Given the description of an element on the screen output the (x, y) to click on. 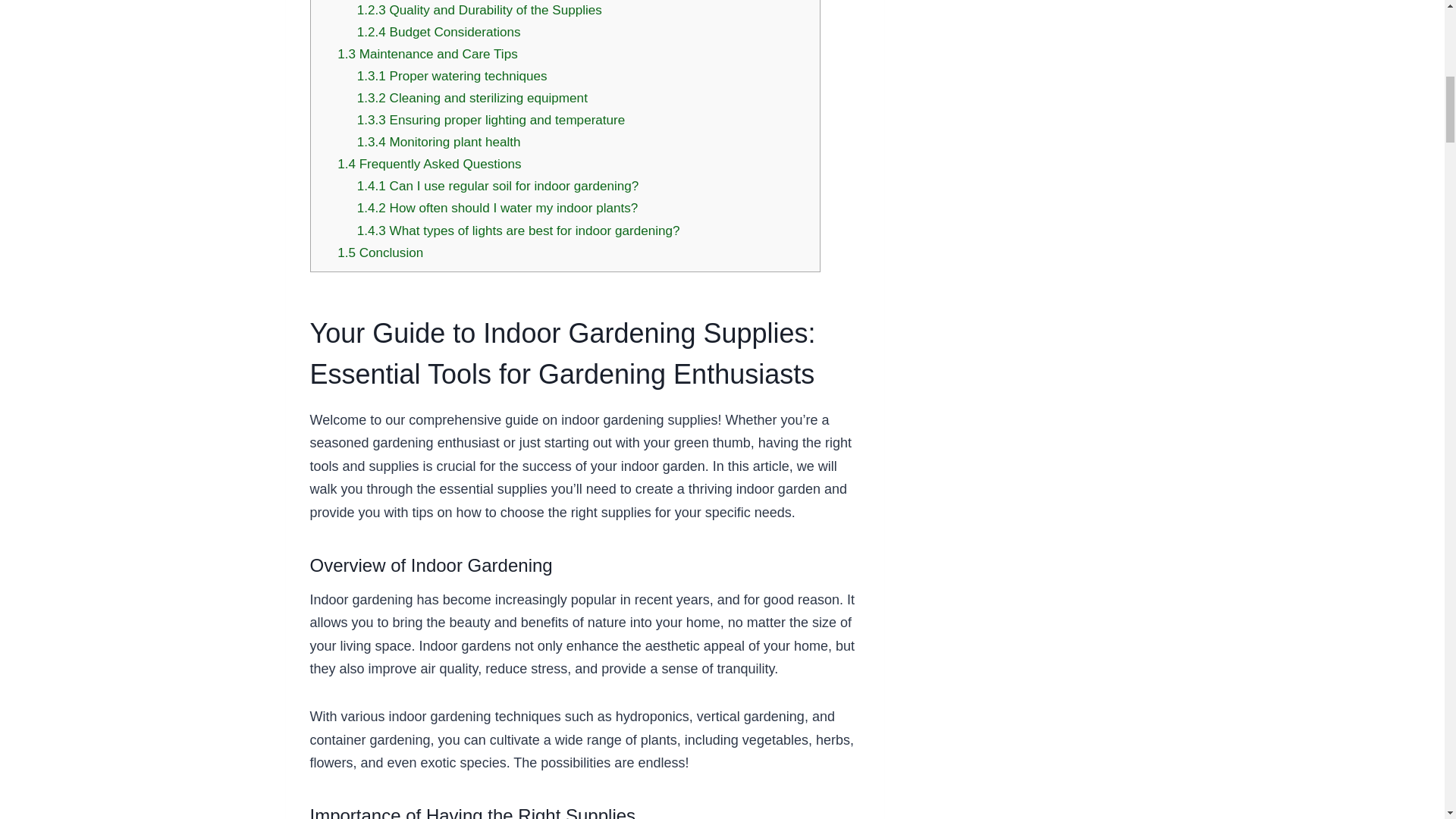
1.4.2 How often should I water my indoor plants? (497, 207)
1.4 Frequently Asked Questions (429, 164)
1.3.1 Proper watering techniques (451, 75)
1.5 Conclusion (380, 252)
1.3.4 Monitoring plant health (438, 142)
1.2.4 Budget Considerations (438, 32)
1.2.3 Quality and Durability of the Supplies (479, 10)
1.3.2 Cleaning and sterilizing equipment (472, 97)
1.3.3 Ensuring proper lighting and temperature (491, 120)
1.4.1 Can I use regular soil for indoor gardening? (497, 186)
